Given the description of an element on the screen output the (x, y) to click on. 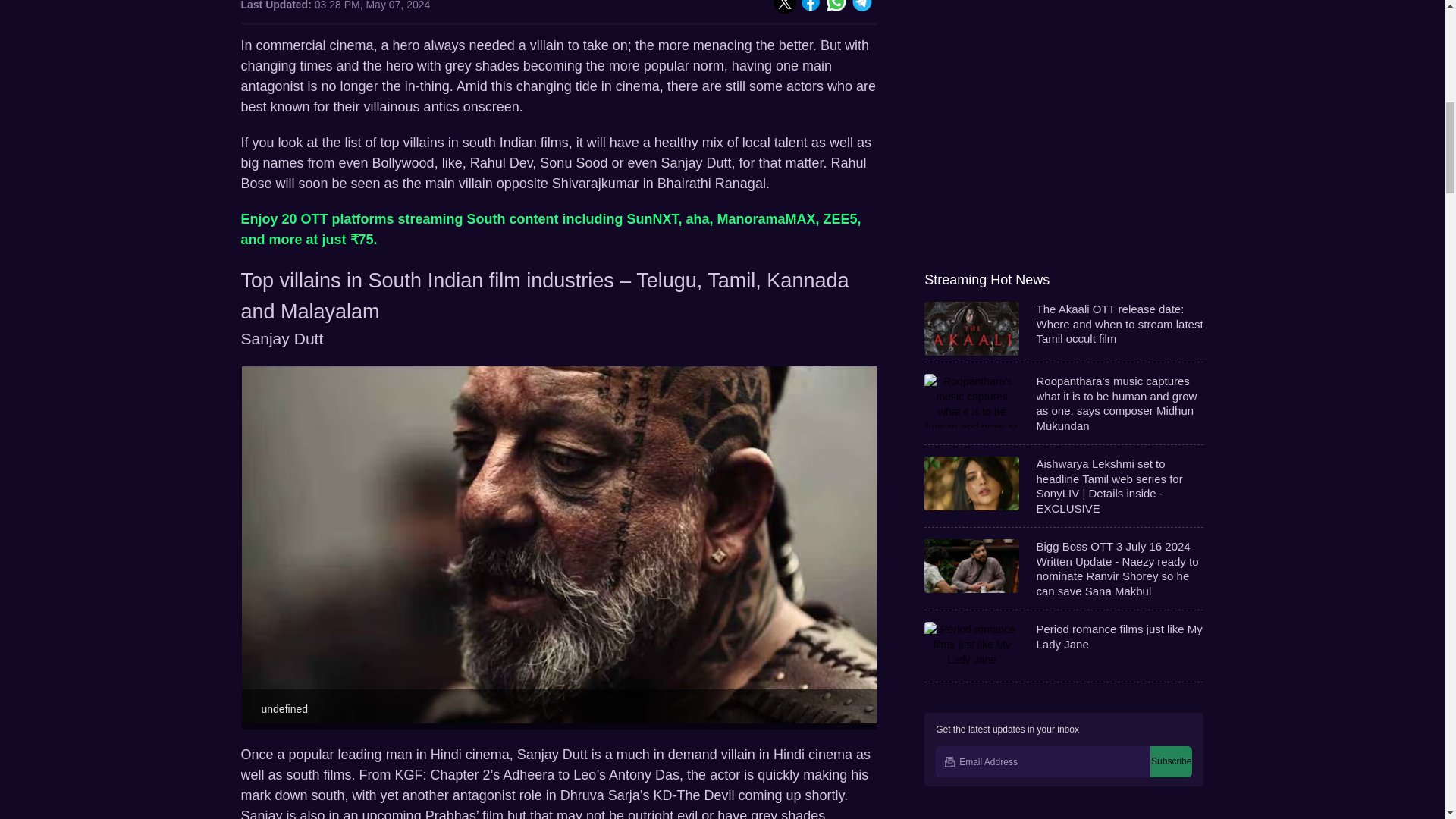
Period romance films just like My Lady Jane (1064, 28)
